Given the description of an element on the screen output the (x, y) to click on. 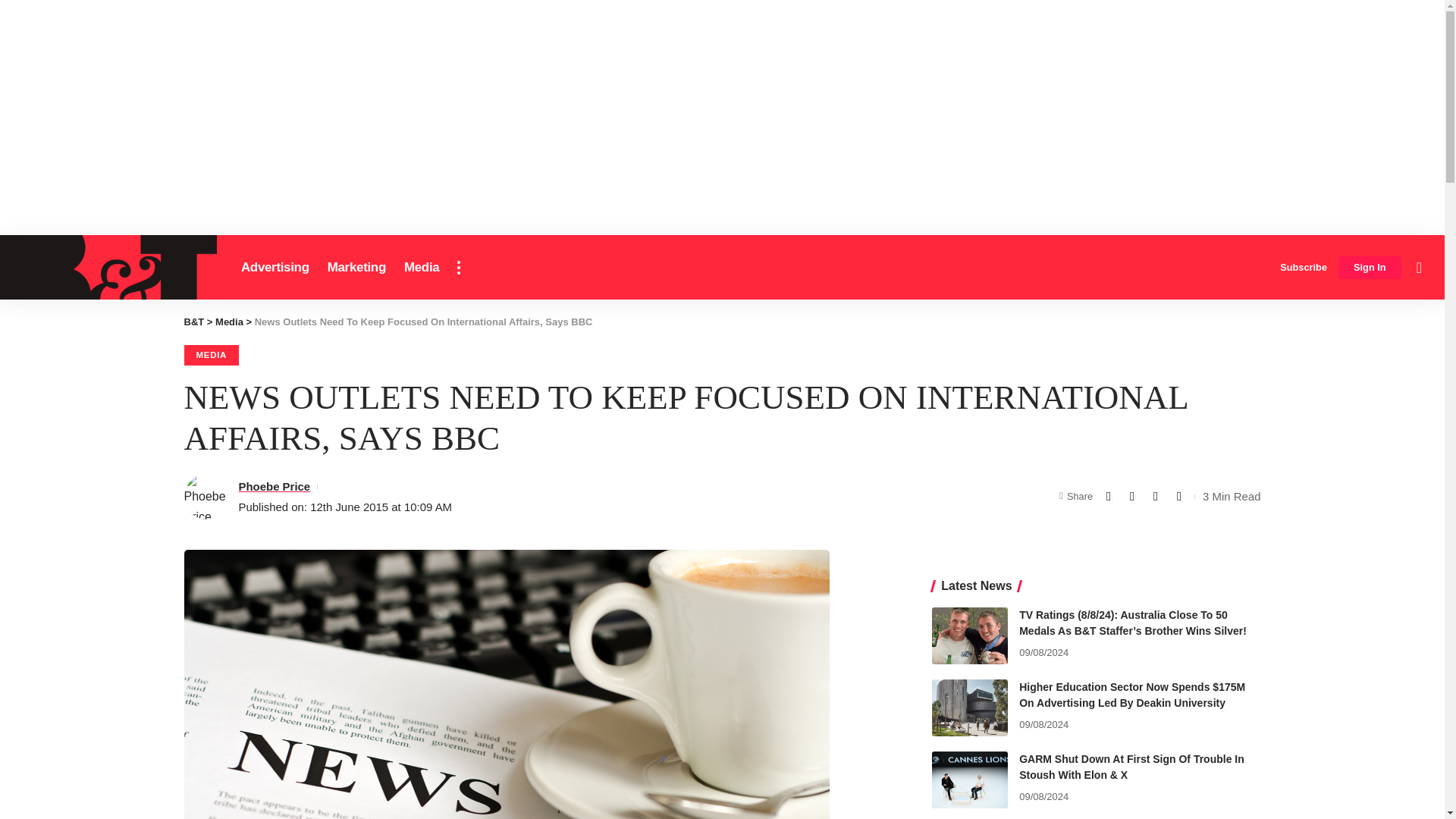
Go to the Media Category archives. (229, 321)
Sign In (1369, 267)
Marketing (356, 267)
Advertising (274, 267)
